Given the description of an element on the screen output the (x, y) to click on. 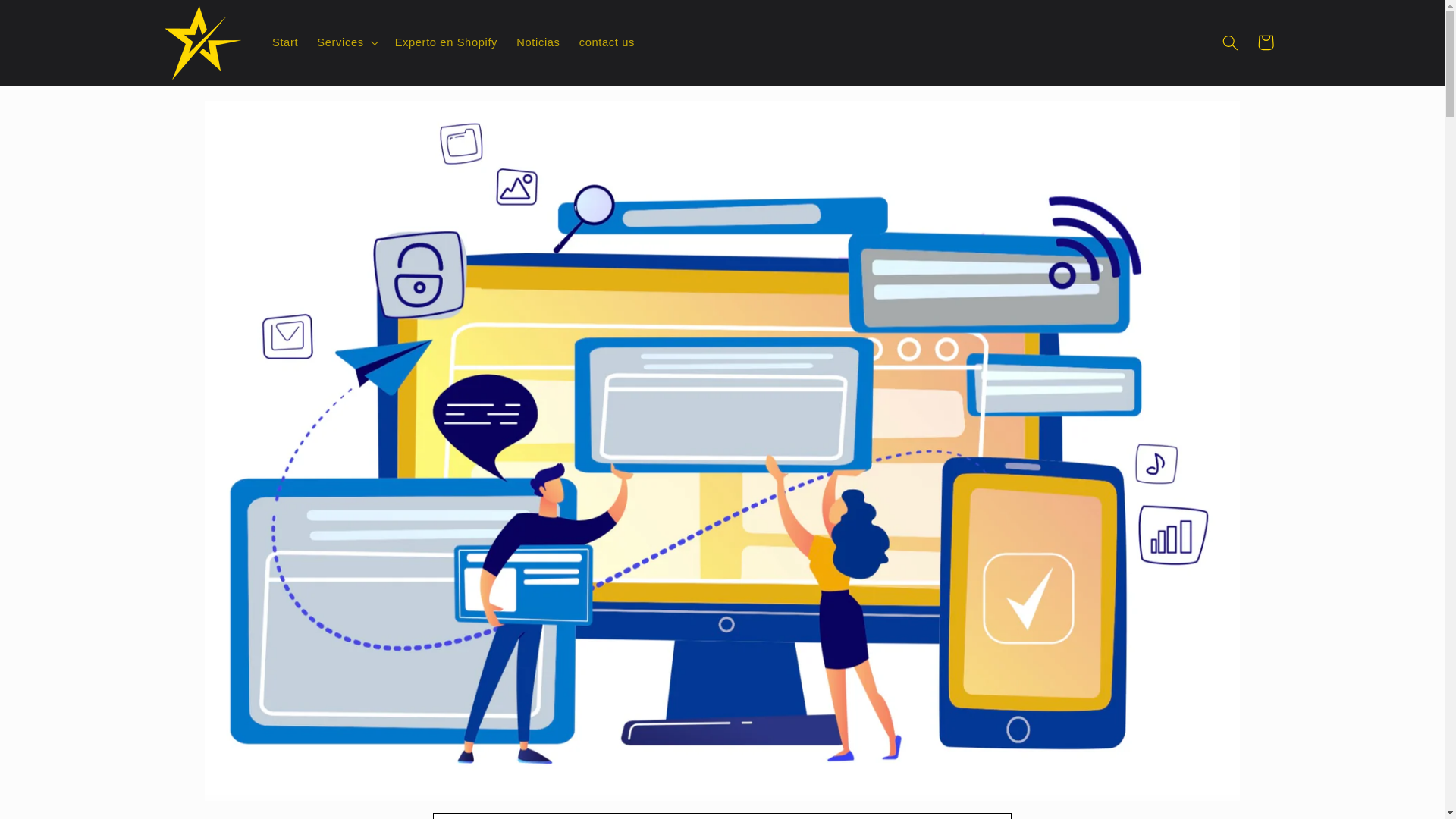
Noticias (537, 41)
contact us (606, 41)
Experto en Shopify (445, 41)
Skip to content (48, 18)
Start (284, 41)
Cart (1264, 42)
